Given the description of an element on the screen output the (x, y) to click on. 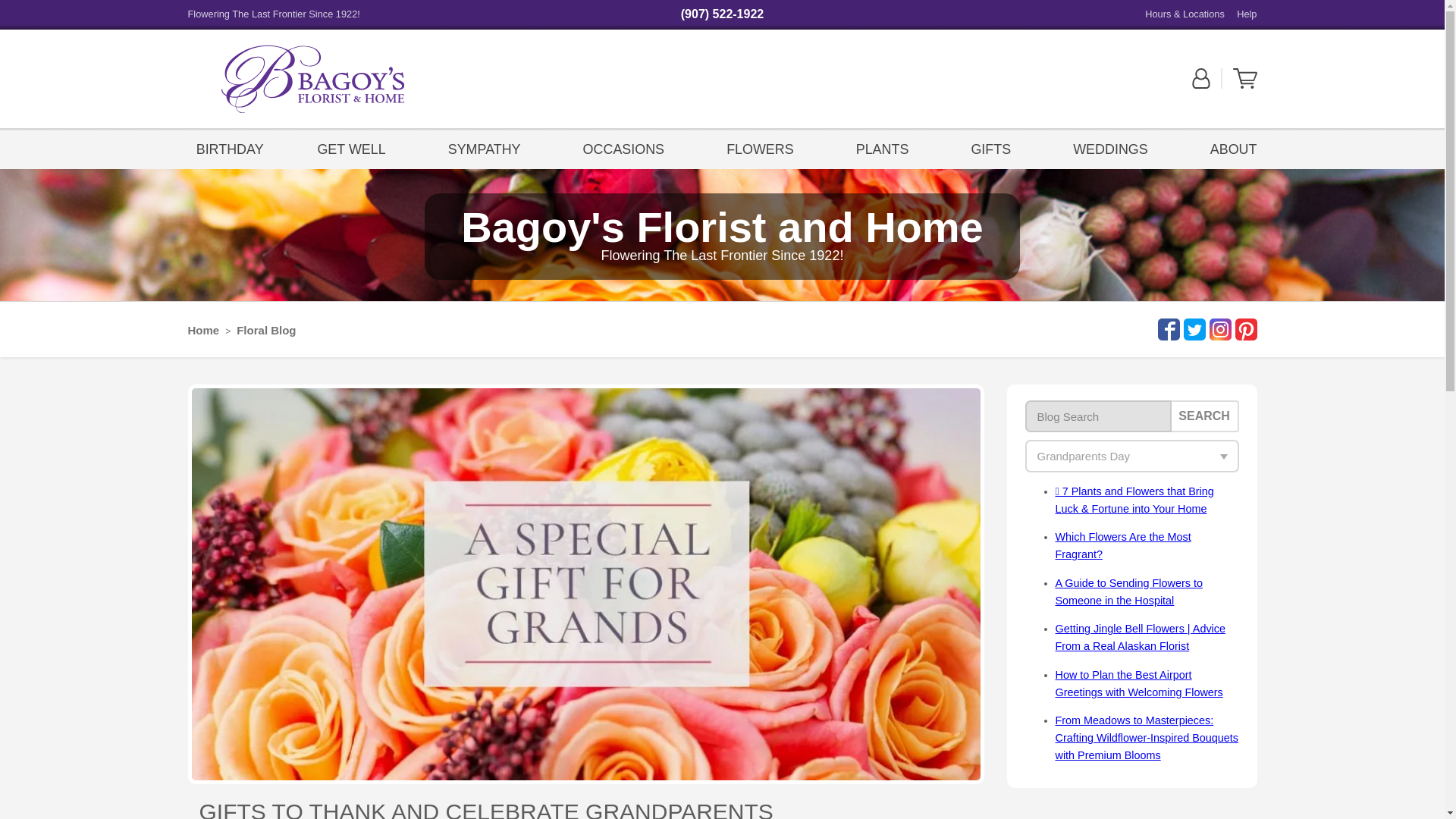
Help (1246, 13)
FLOWERS (759, 147)
Home (203, 329)
GET WELL (355, 147)
GIFTS TO THANK AND CELEBRATE GRANDPARENTS (485, 809)
Facebook (1166, 329)
Pinterest (1244, 329)
ABOUT (1229, 147)
BIRTHDAY (229, 147)
GIFTS (990, 147)
